Given the description of an element on the screen output the (x, y) to click on. 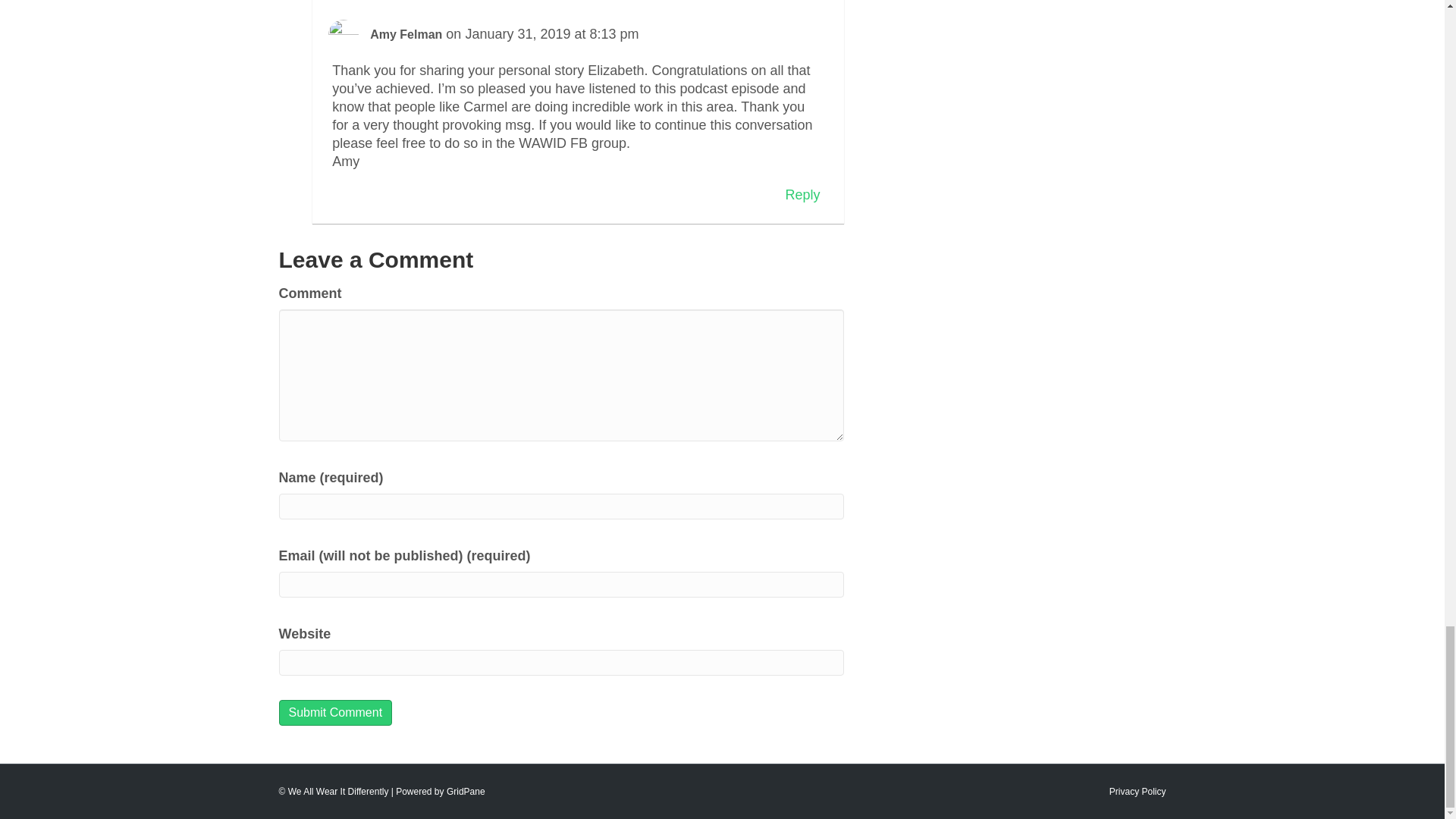
Submit Comment (336, 712)
Privacy Policy (1137, 791)
Submit Comment (336, 712)
Reply (802, 194)
